Given the description of an element on the screen output the (x, y) to click on. 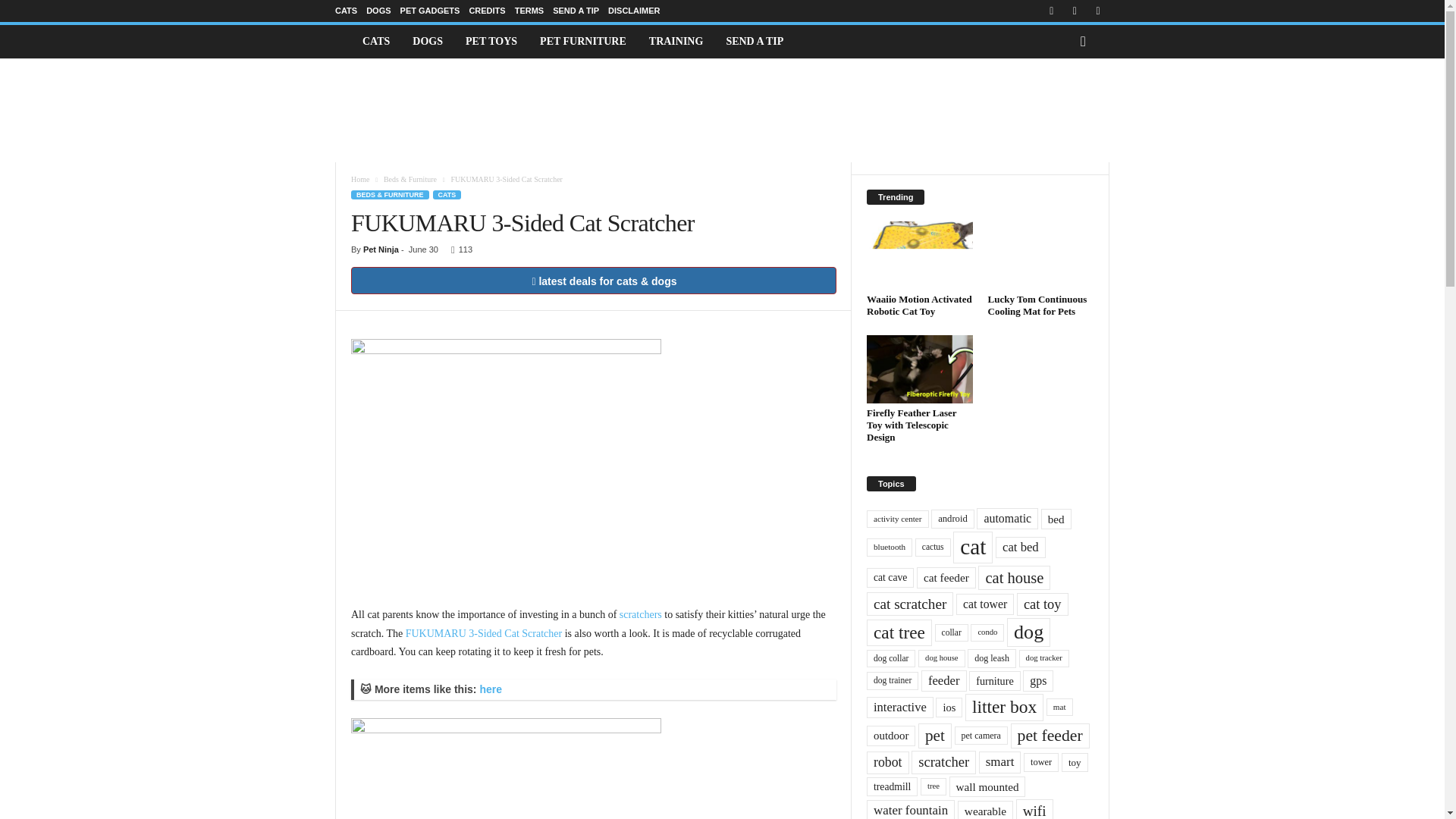
CREDITS (486, 10)
Slash Pets (342, 41)
TERMS (529, 10)
CATS (375, 41)
DOGS (378, 10)
DISCLAIMER (633, 10)
SEND A TIP (575, 10)
PET GADGETS (430, 10)
CATS (345, 10)
